Given the description of an element on the screen output the (x, y) to click on. 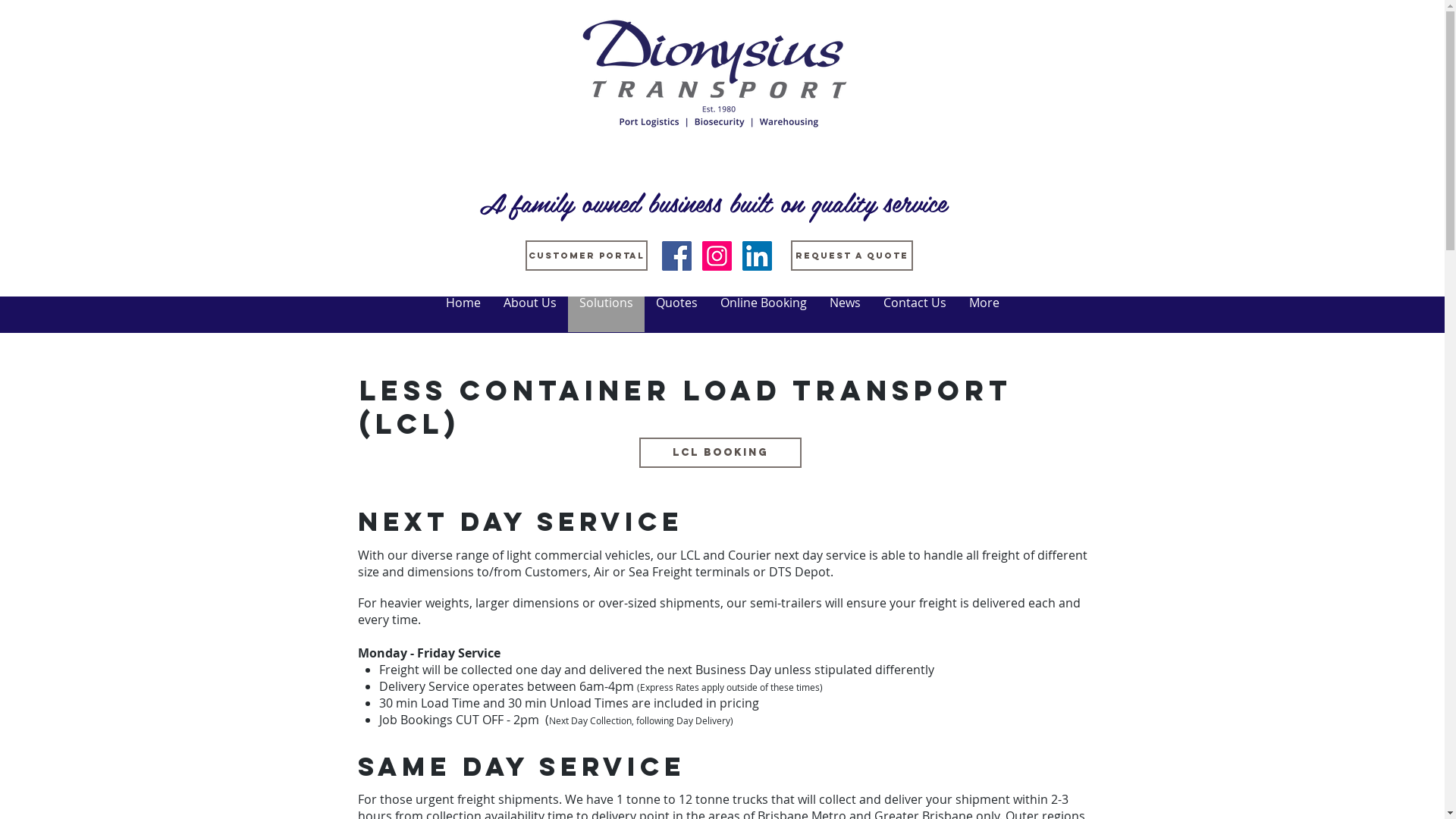
Solutions Element type: text (605, 314)
Quotes Element type: text (676, 314)
About Us Element type: text (529, 314)
Customer Portal Element type: text (585, 255)
LCL booking Element type: text (719, 452)
Home Element type: text (462, 314)
Contact Us Element type: text (914, 314)
Request a quote Element type: text (851, 255)
Online Booking Element type: text (762, 314)
News Element type: text (844, 314)
